Given the description of an element on the screen output the (x, y) to click on. 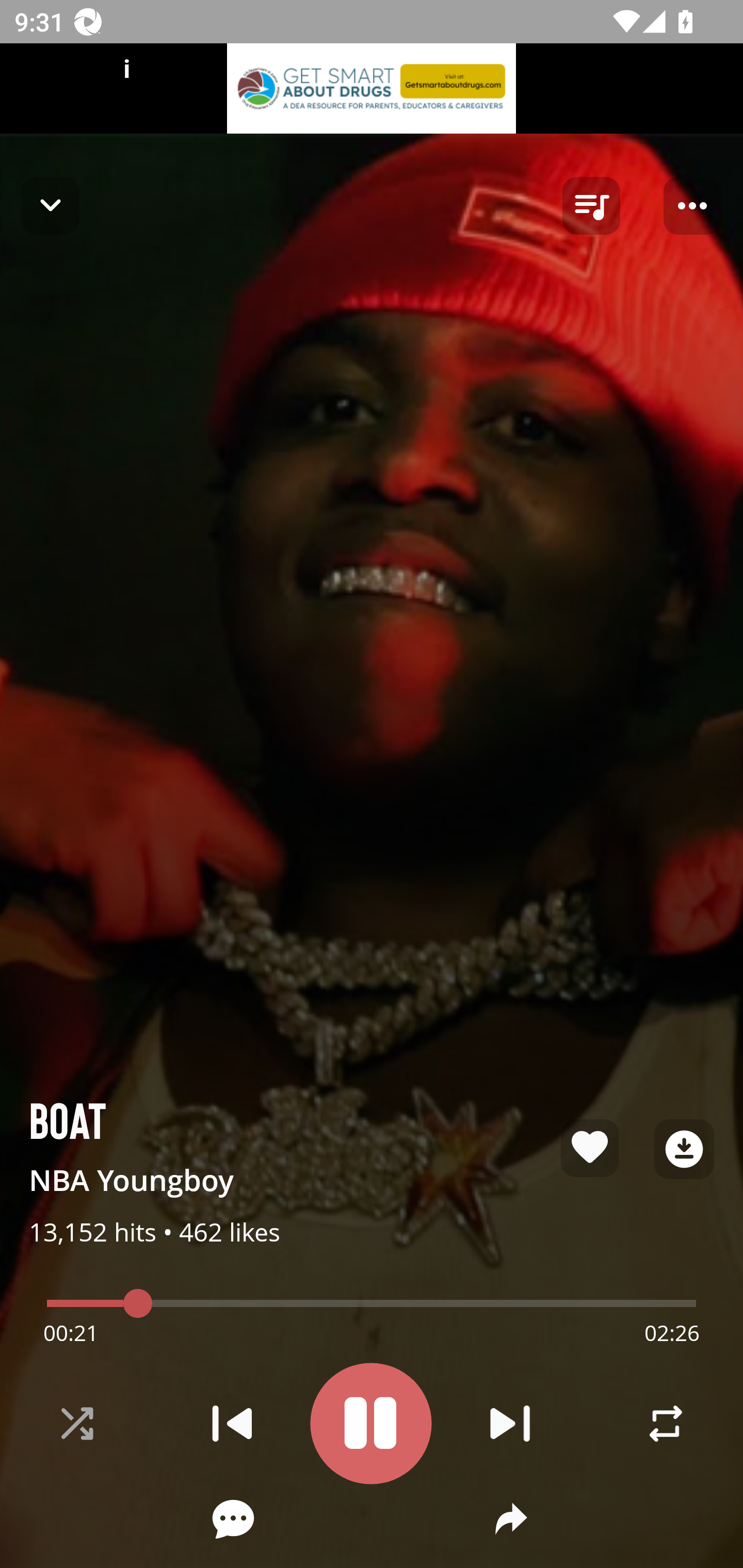
Navigate up (50, 205)
queue (590, 206)
Player options (692, 206)
